Given the description of an element on the screen output the (x, y) to click on. 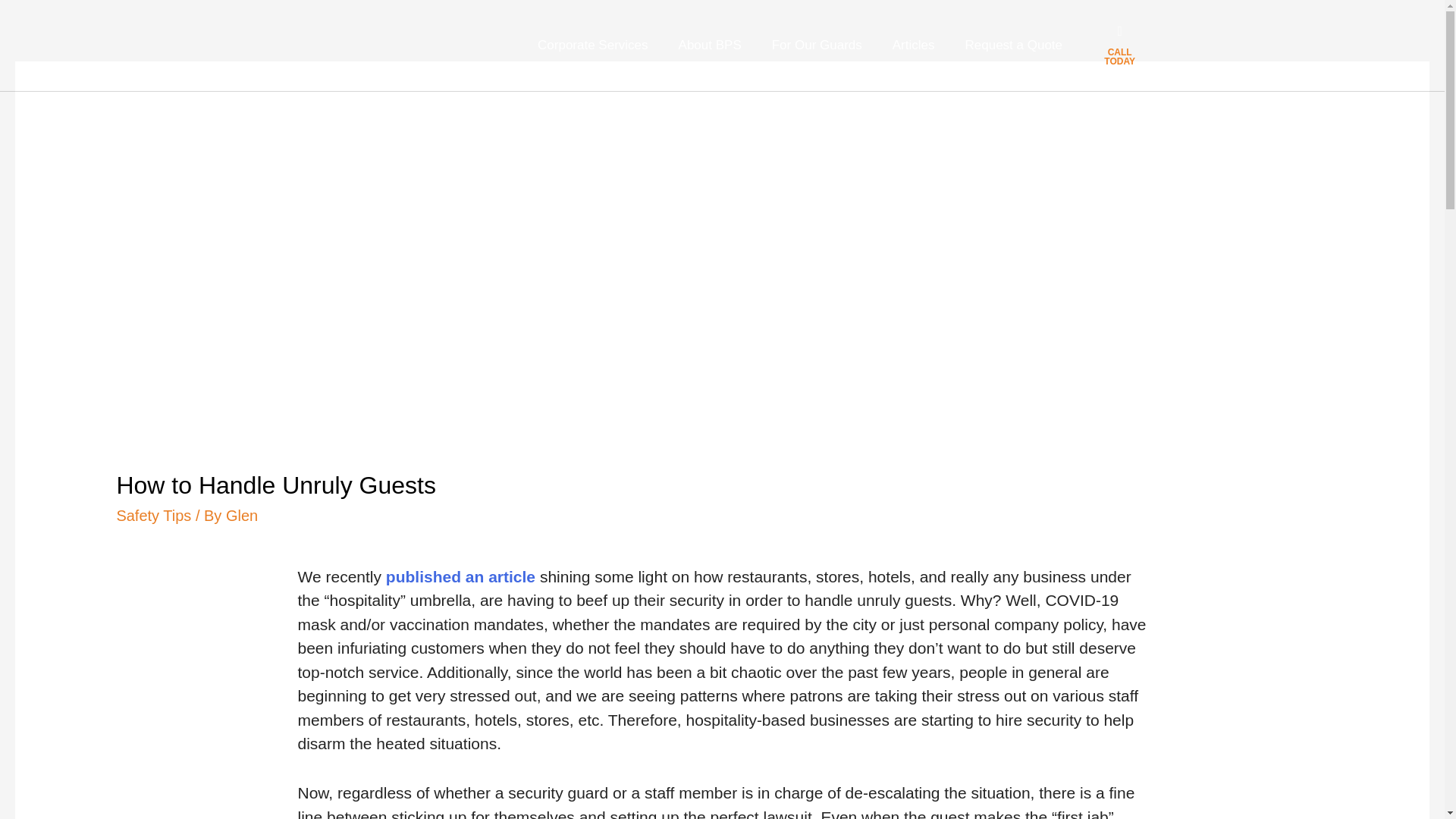
Corporate Services (592, 45)
Articles (913, 45)
CALL TODAY (1119, 56)
View all posts by Glen (241, 515)
About BPS (710, 45)
Request a Quote (1014, 45)
For Our Guards (817, 45)
